Given the description of an element on the screen output the (x, y) to click on. 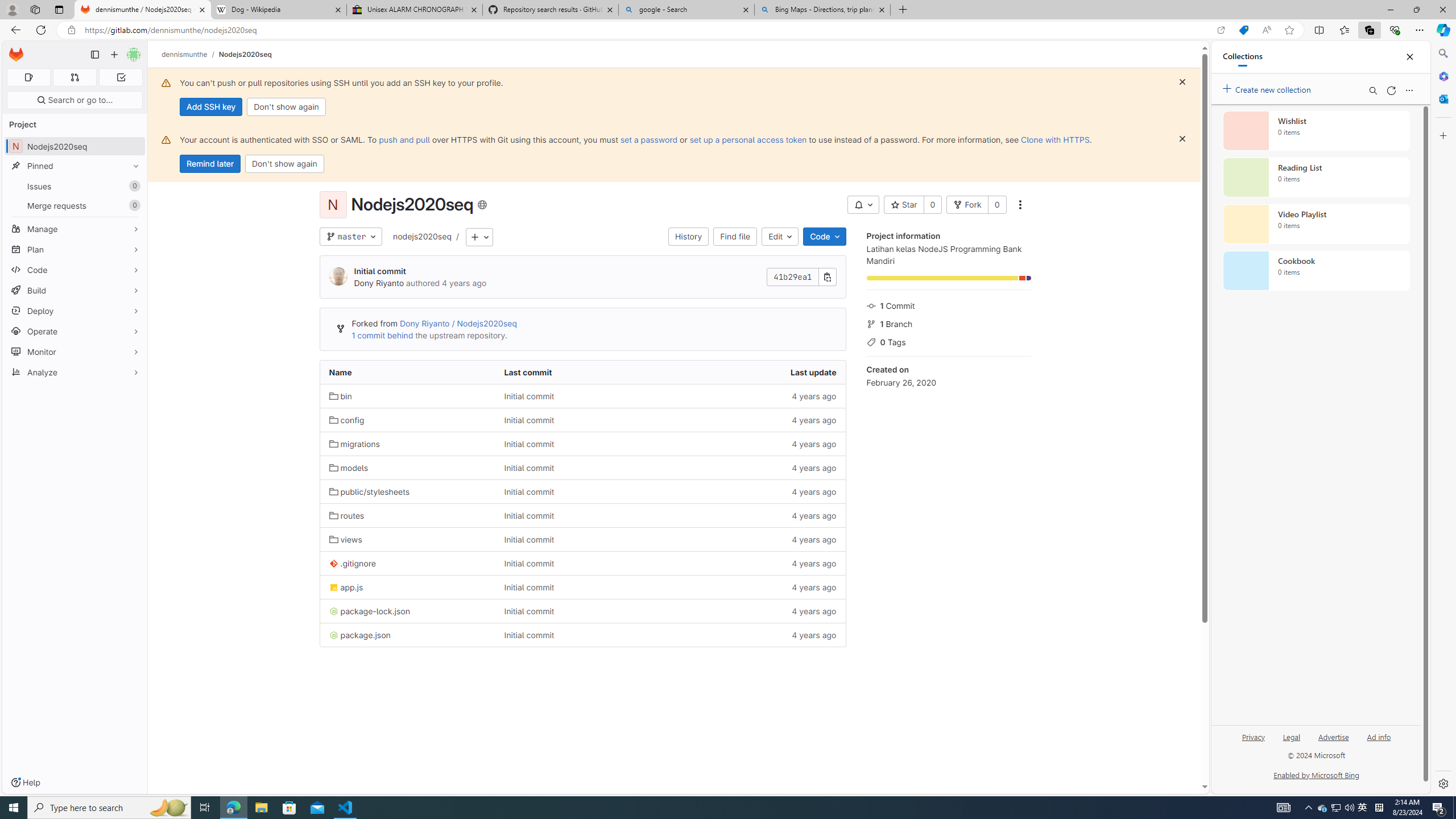
Shopping in Microsoft Edge (1243, 29)
Class: s16 icon gl-mr-3 gl-text-gray-500 (871, 342)
Ad info (1378, 741)
Analyze (74, 371)
Merge requests0 (74, 205)
1 Commit (948, 304)
dennismunthe (184, 53)
1 Branch (948, 322)
4 years ago (757, 634)
Dony Riyanto's avatar (338, 275)
Skip to main content (13, 49)
Last commit (583, 372)
0 (996, 204)
